Given the description of an element on the screen output the (x, y) to click on. 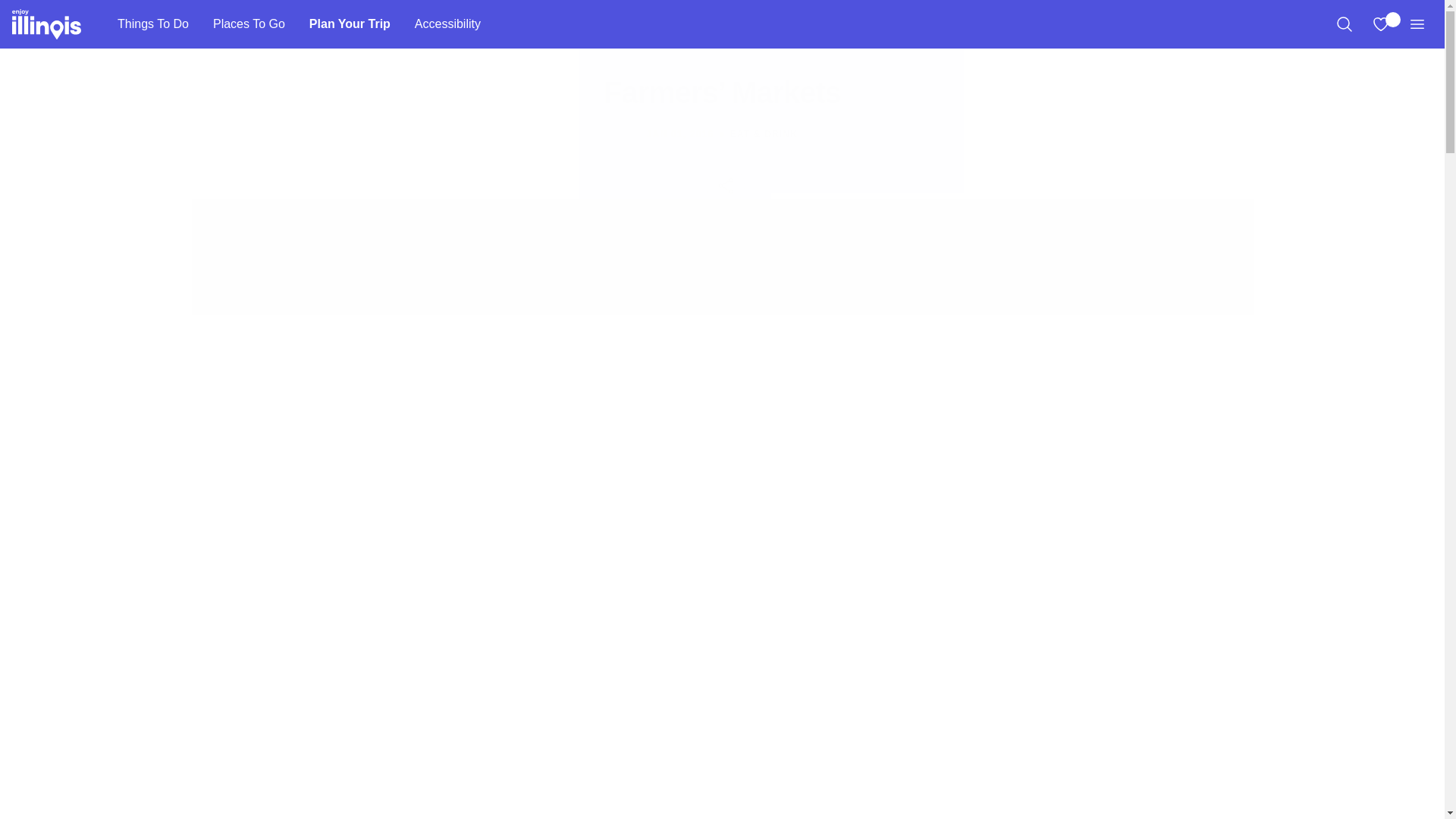
Plan Your Trip (350, 24)
Search the Site (1344, 24)
View My Favorites (1380, 24)
Things To Do (152, 24)
Menu (1417, 24)
Accessibility (448, 24)
Places To Go (248, 24)
